Given the description of an element on the screen output the (x, y) to click on. 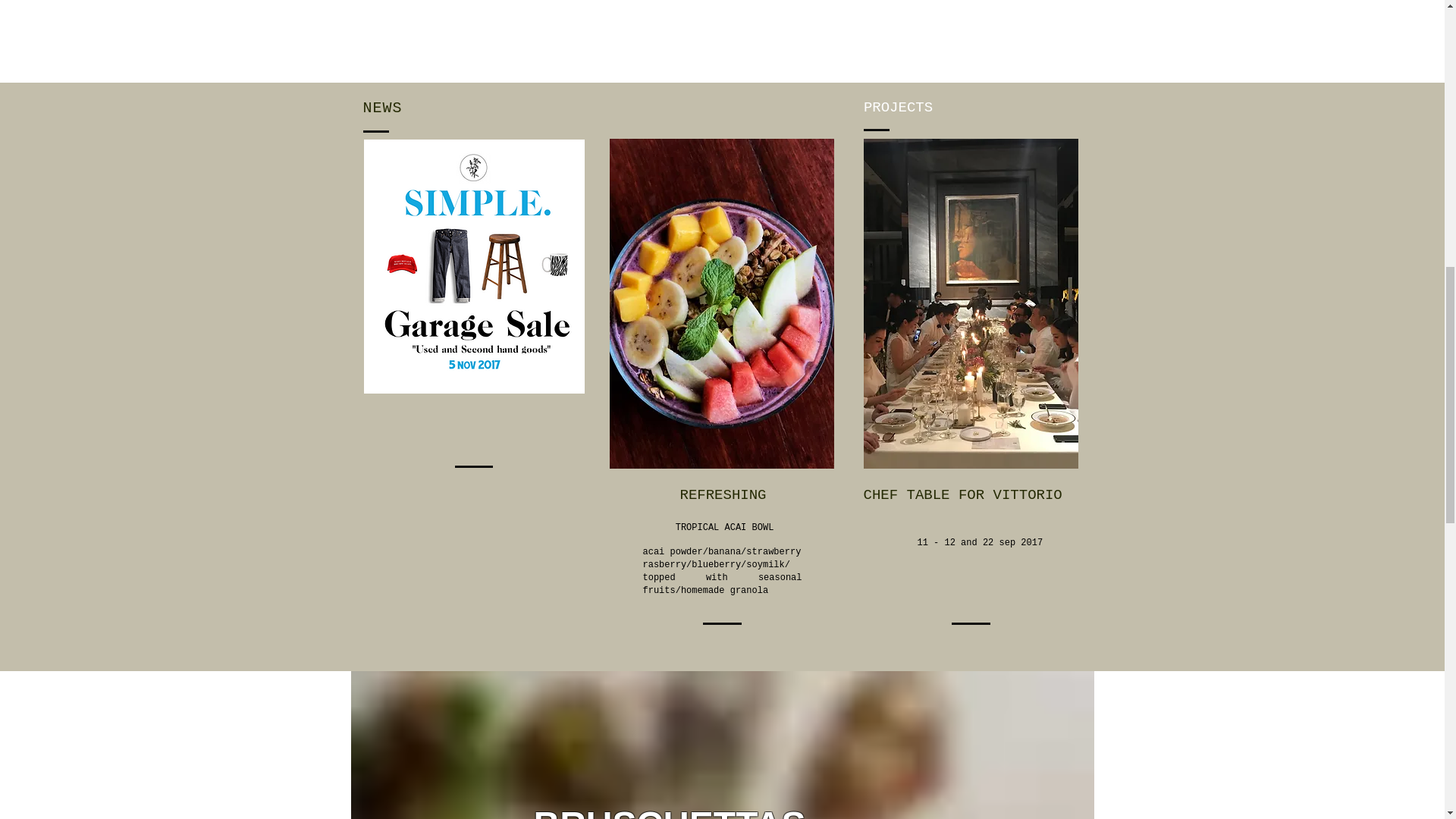
PROJECTS (898, 107)
